Given the description of an element on the screen output the (x, y) to click on. 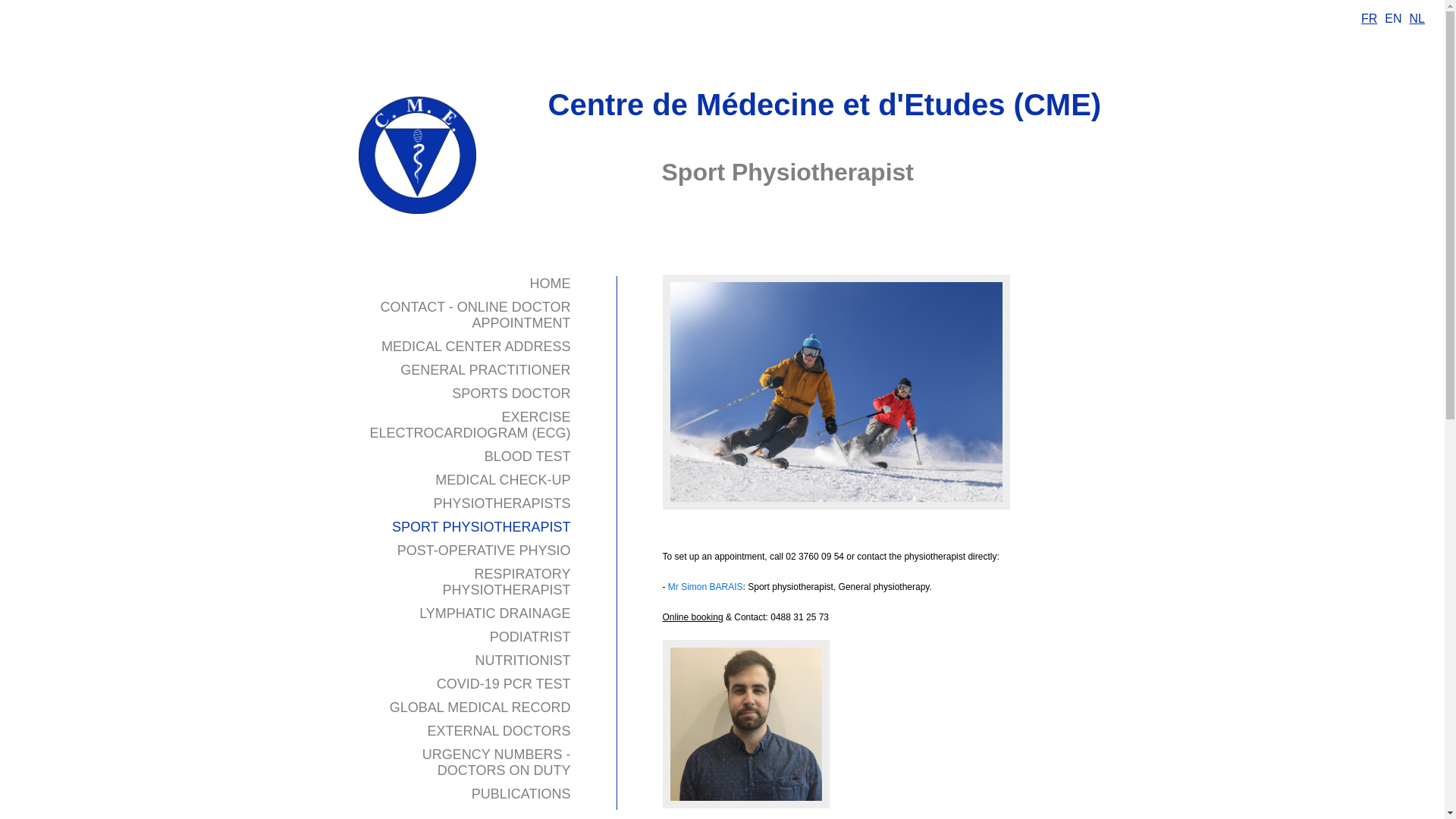
Online booking Element type: text (692, 616)
LYMPHATIC DRAINAGE Element type: text (494, 628)
BLOOD TEST Element type: text (527, 471)
RESPIRATORY PHYSIOTHERAPIST Element type: text (506, 596)
CONTACT - ONLINE DOCTOR APPOINTMENT Element type: text (474, 329)
PHYSIOTHERAPISTS Element type: text (501, 518)
NL Element type: text (1416, 18)
GLOBAL MEDICAL RECORD Element type: text (480, 722)
PODIATRIST Element type: text (530, 651)
GENERAL PRACTITIONER Element type: text (485, 384)
MEDICAL CHECK-UP Element type: text (502, 494)
SPORTS DOCTOR Element type: text (510, 408)
URGENCY NUMBERS - DOCTORS ON DUTY Element type: text (496, 777)
COVID-19 PCR TEST Element type: text (503, 698)
EN Element type: text (1392, 18)
EXERCISE ELECTROCARDIOGRAM (ECG) Element type: text (469, 439)
NUTRITIONIST Element type: text (522, 675)
FR Element type: text (1369, 18)
HOME Element type: text (549, 298)
SPORT PHYSIOTHERAPIST Element type: text (481, 541)
POST-OPERATIVE PHYSIO Element type: text (484, 565)
MEDICAL CENTER ADDRESS Element type: text (475, 361)
EXTERNAL DOCTORS Element type: text (498, 745)
